Given the description of an element on the screen output the (x, y) to click on. 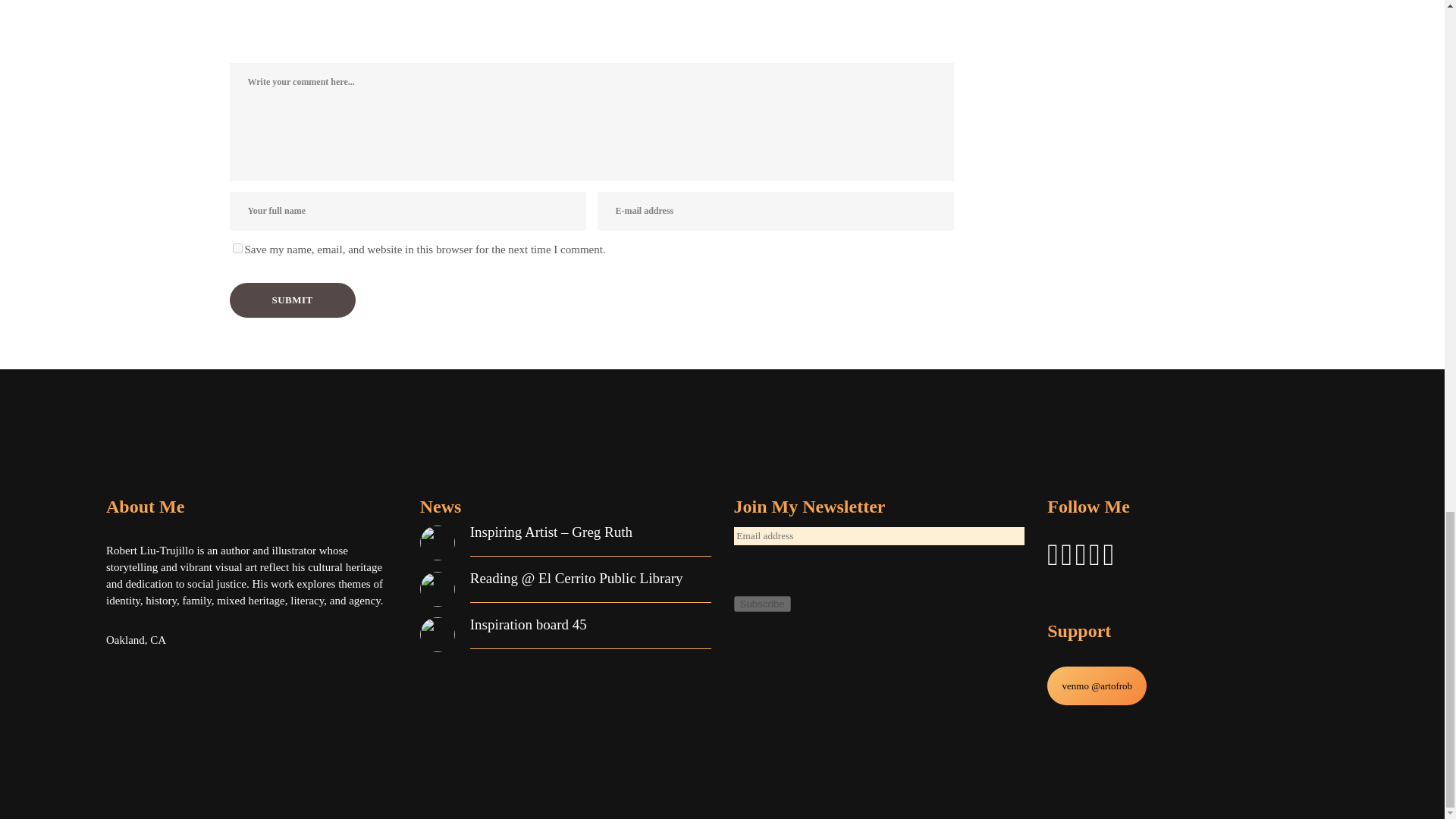
yes (236, 248)
Submit (291, 300)
